Given the description of an element on the screen output the (x, y) to click on. 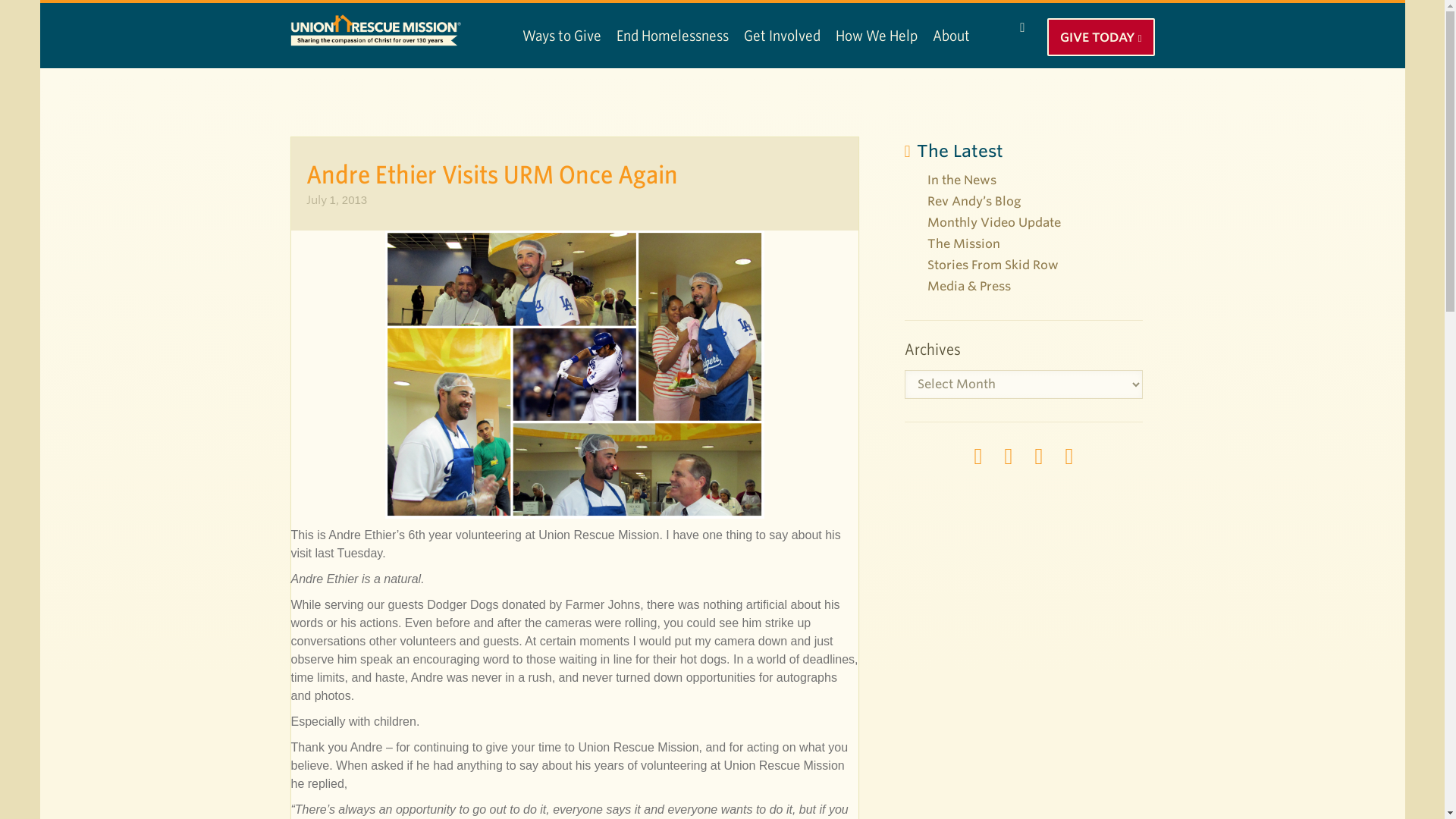
End Homelessness (671, 35)
Get Involved (781, 35)
How We Help (876, 35)
Ways to Give (560, 35)
About (950, 35)
